Given the description of an element on the screen output the (x, y) to click on. 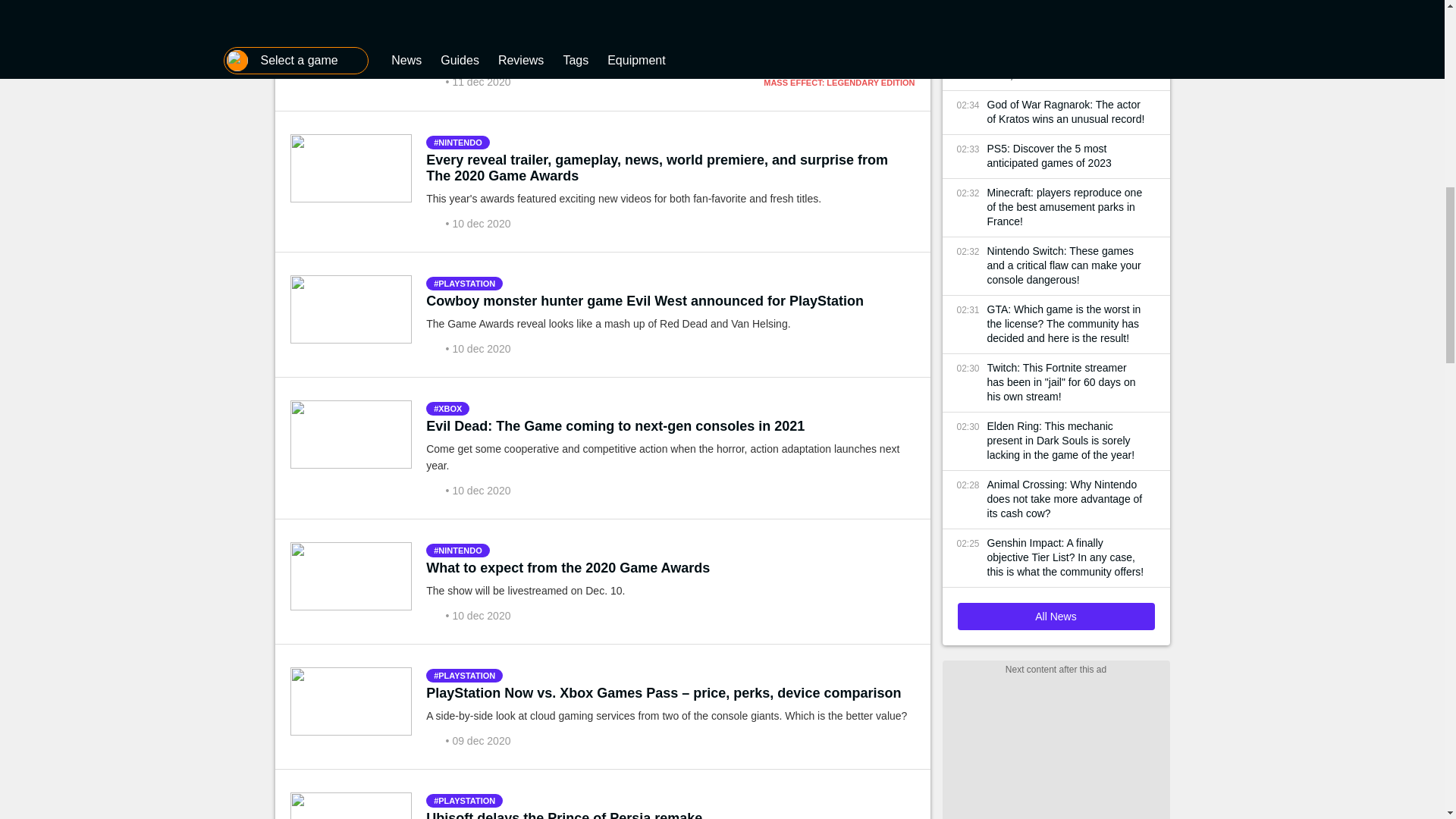
MASS EFFECT: LEGENDARY EDITION (838, 81)
Ubisoft delays the Prince of Persia remake (563, 814)
NINTENDO (457, 142)
Evil Dead: The Game coming to next-gen consoles in 2021 (615, 426)
Mass Effect is Officially Set to Continue in New Teaser (601, 17)
What to expect from the 2020 Game Awards (568, 567)
